Given the description of an element on the screen output the (x, y) to click on. 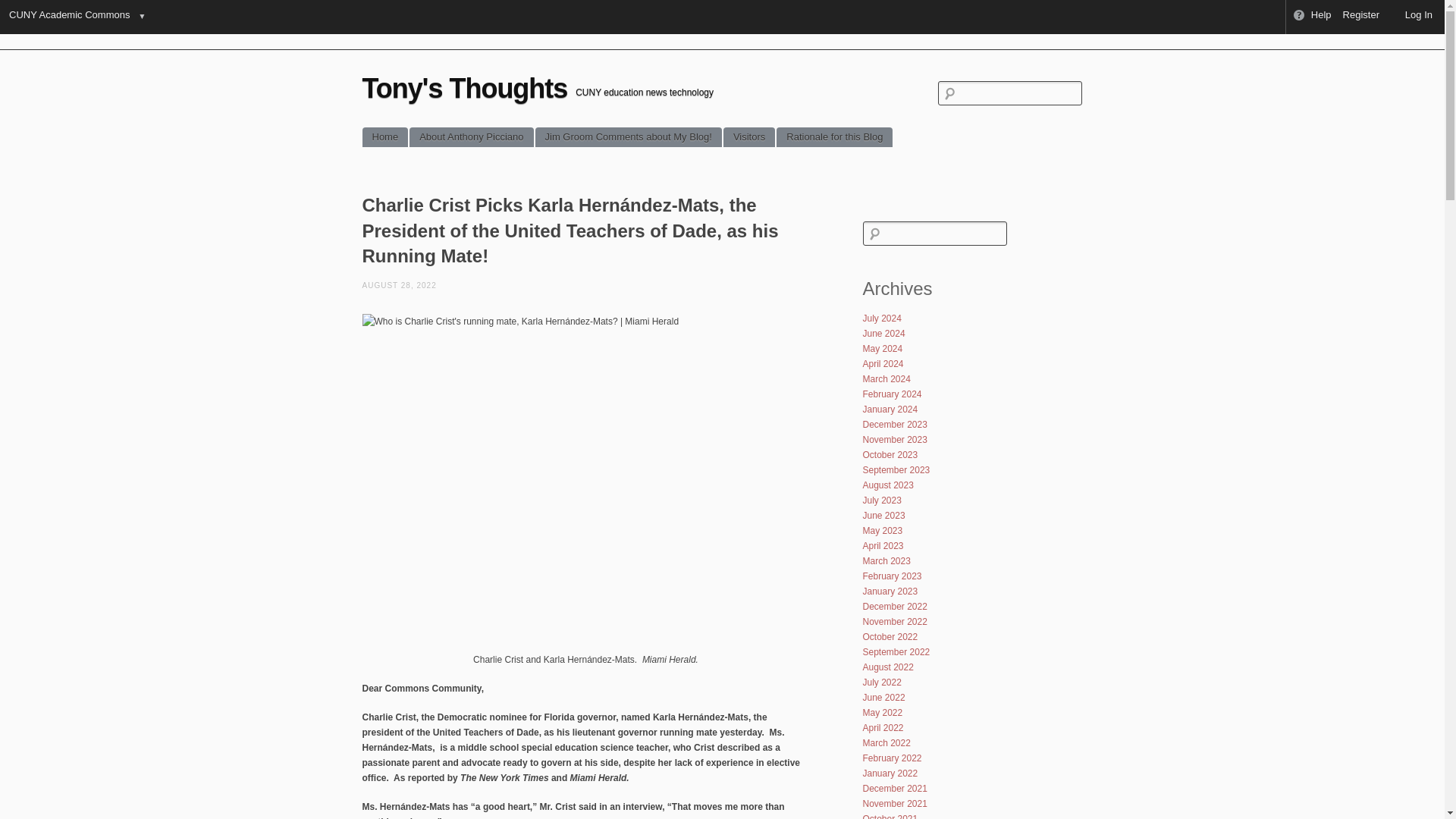
March 2024 (887, 378)
Tony's Thoughts (464, 88)
2:20 am (399, 285)
Tony's Thoughts (464, 88)
February 2024 (892, 394)
Rationale for this Blog (834, 137)
May 2023 (882, 530)
June 2024 (884, 333)
AUGUST 28, 2022 (399, 285)
December 2023 (895, 424)
Search (20, 9)
July 2024 (882, 317)
May 2024 (882, 348)
October 2023 (890, 454)
Jim Groom Comments about My Blog! (628, 137)
